Given the description of an element on the screen output the (x, y) to click on. 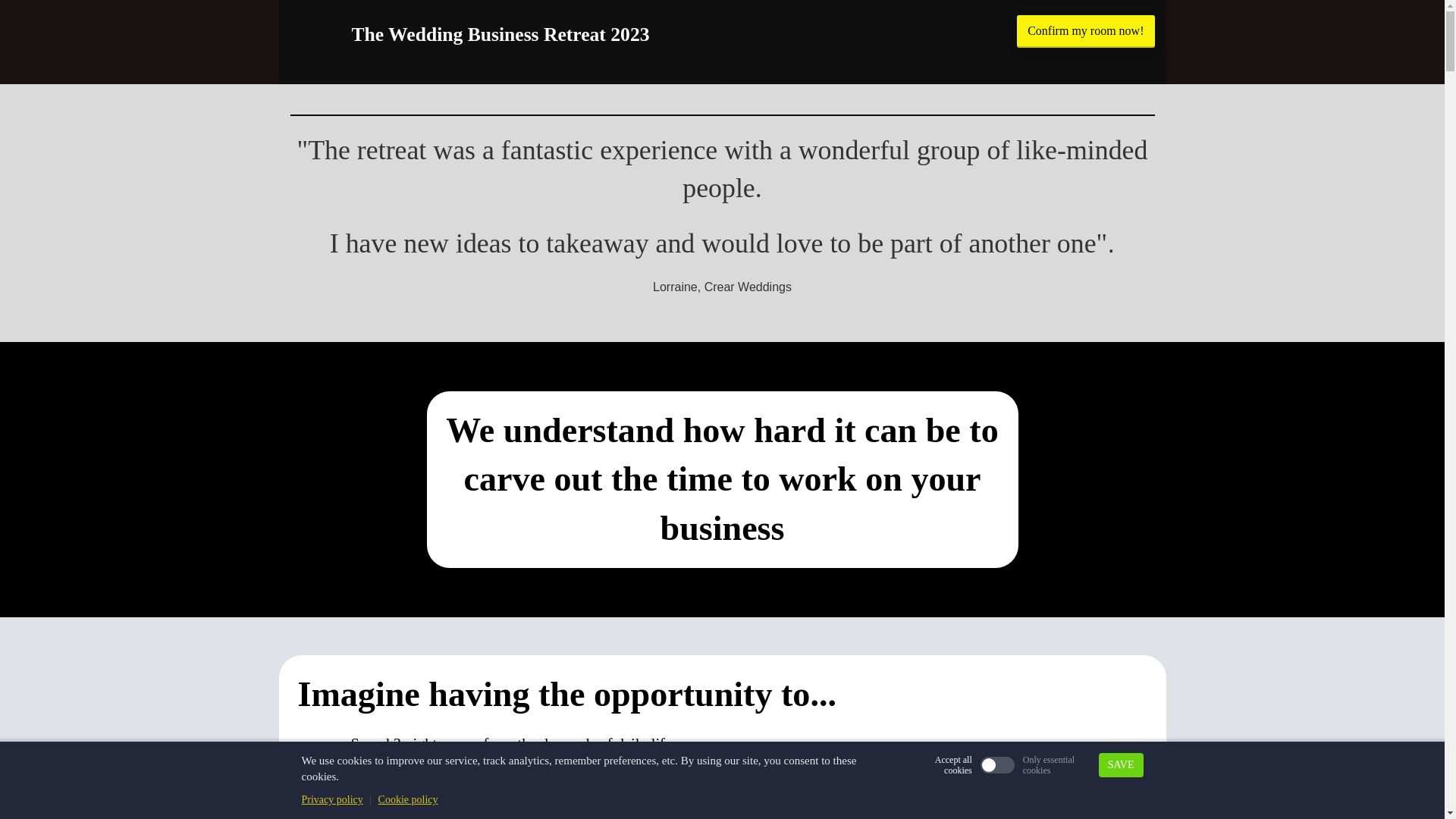
Privacy policy (331, 799)
SAVE (1120, 764)
Confirm my room now! (1085, 31)
Cookie policy (408, 799)
